Given the description of an element on the screen output the (x, y) to click on. 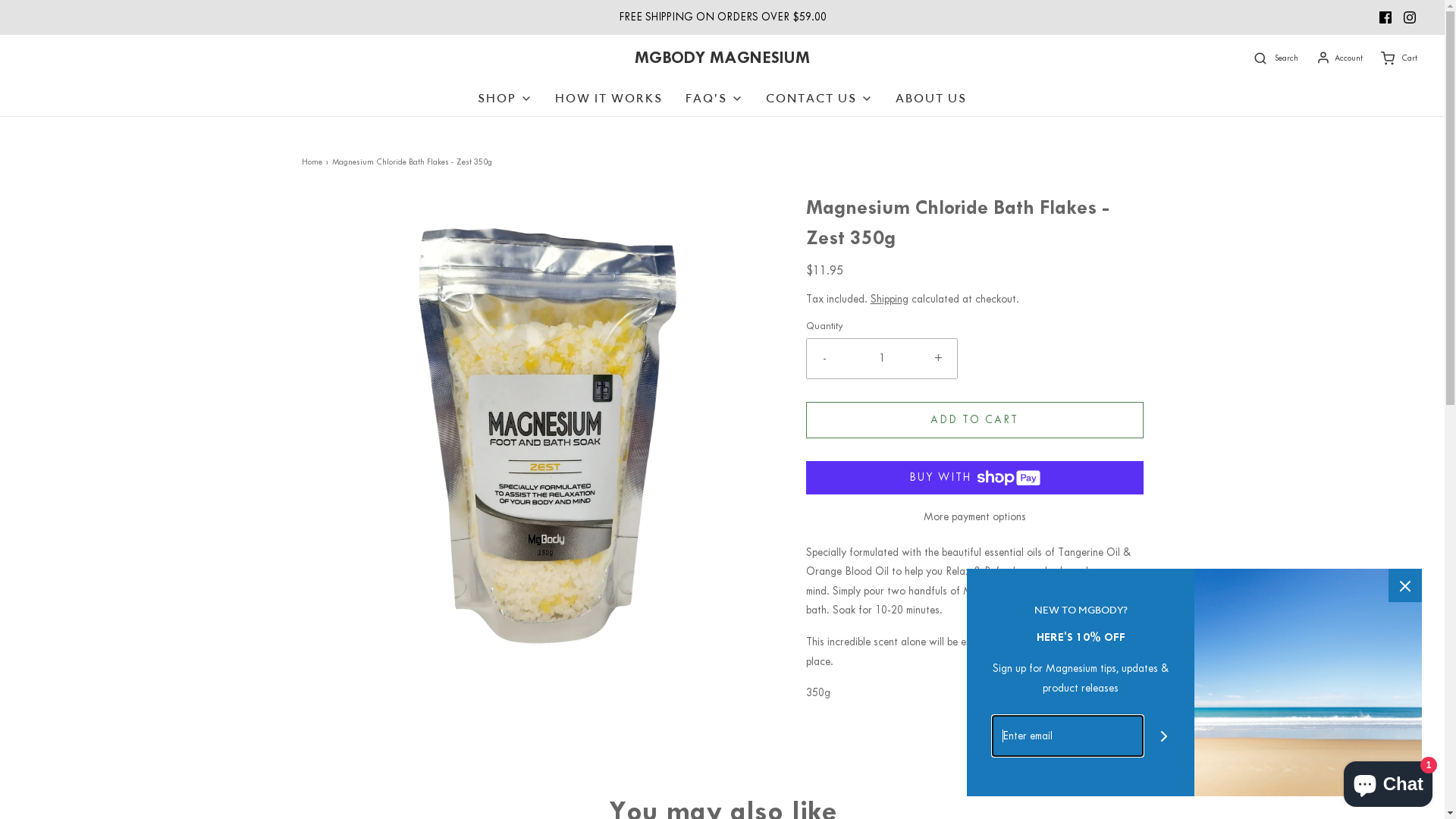
More payment options Element type: text (973, 516)
+ Element type: text (938, 358)
Search Element type: text (1274, 58)
Account Element type: text (1338, 57)
Instagram icon Element type: text (1409, 17)
Cart Element type: text (1397, 58)
Facebook icon Element type: text (1385, 17)
ABOUT US Element type: text (930, 98)
- Element type: text (824, 358)
FAQ'S Element type: text (714, 98)
ADD TO CART Element type: text (973, 419)
Shopify online store chat Element type: hover (1388, 780)
CONTACT US Element type: text (818, 98)
Shipping Element type: text (889, 298)
HOW IT WORKS Element type: text (608, 98)
Home Element type: text (313, 161)
SHOP Element type: text (504, 98)
MGBODY MAGNESIUM Element type: text (721, 58)
